Given the description of an element on the screen output the (x, y) to click on. 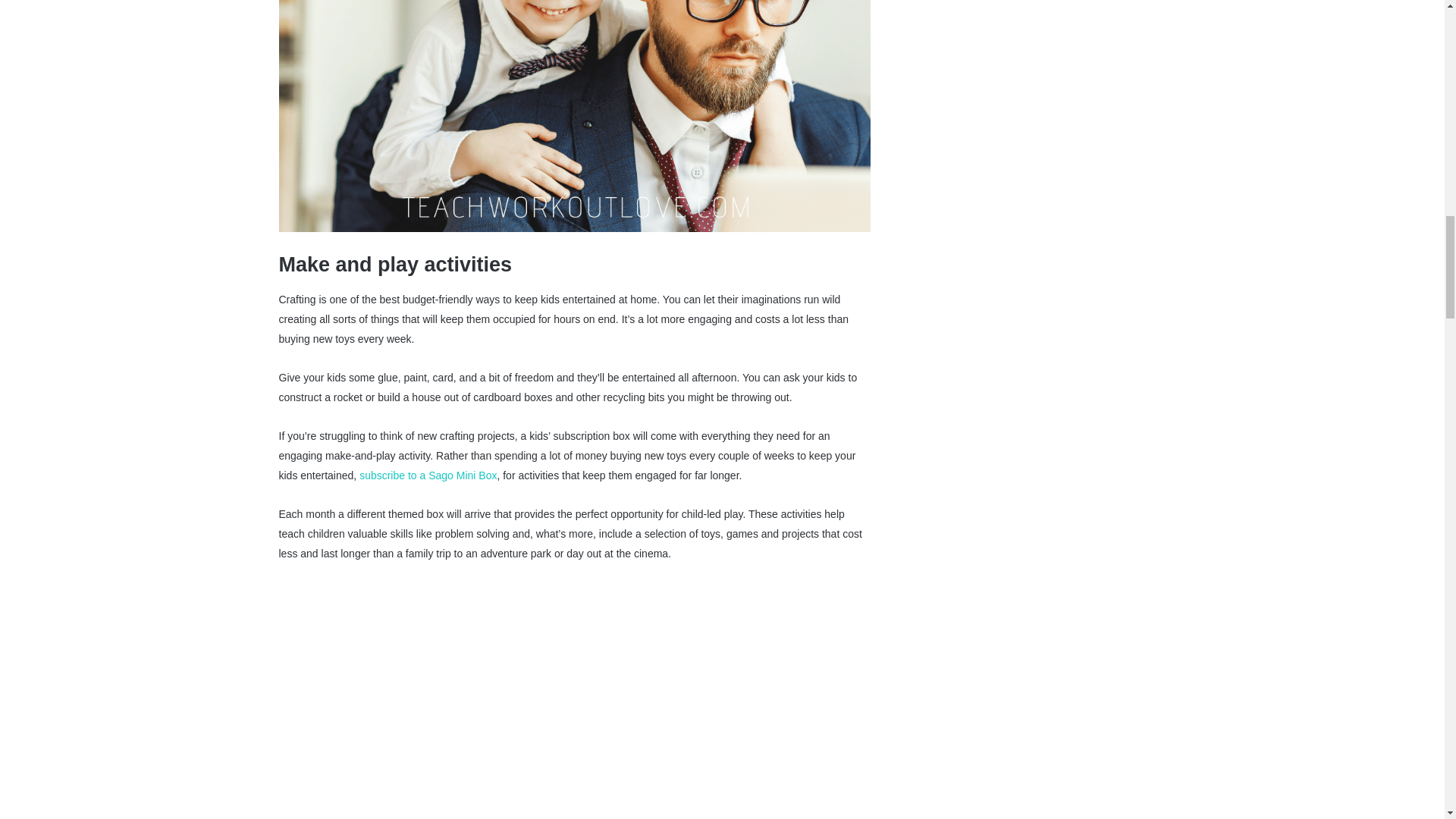
subscribe to a Sago Mini Box (427, 475)
